Given the description of an element on the screen output the (x, y) to click on. 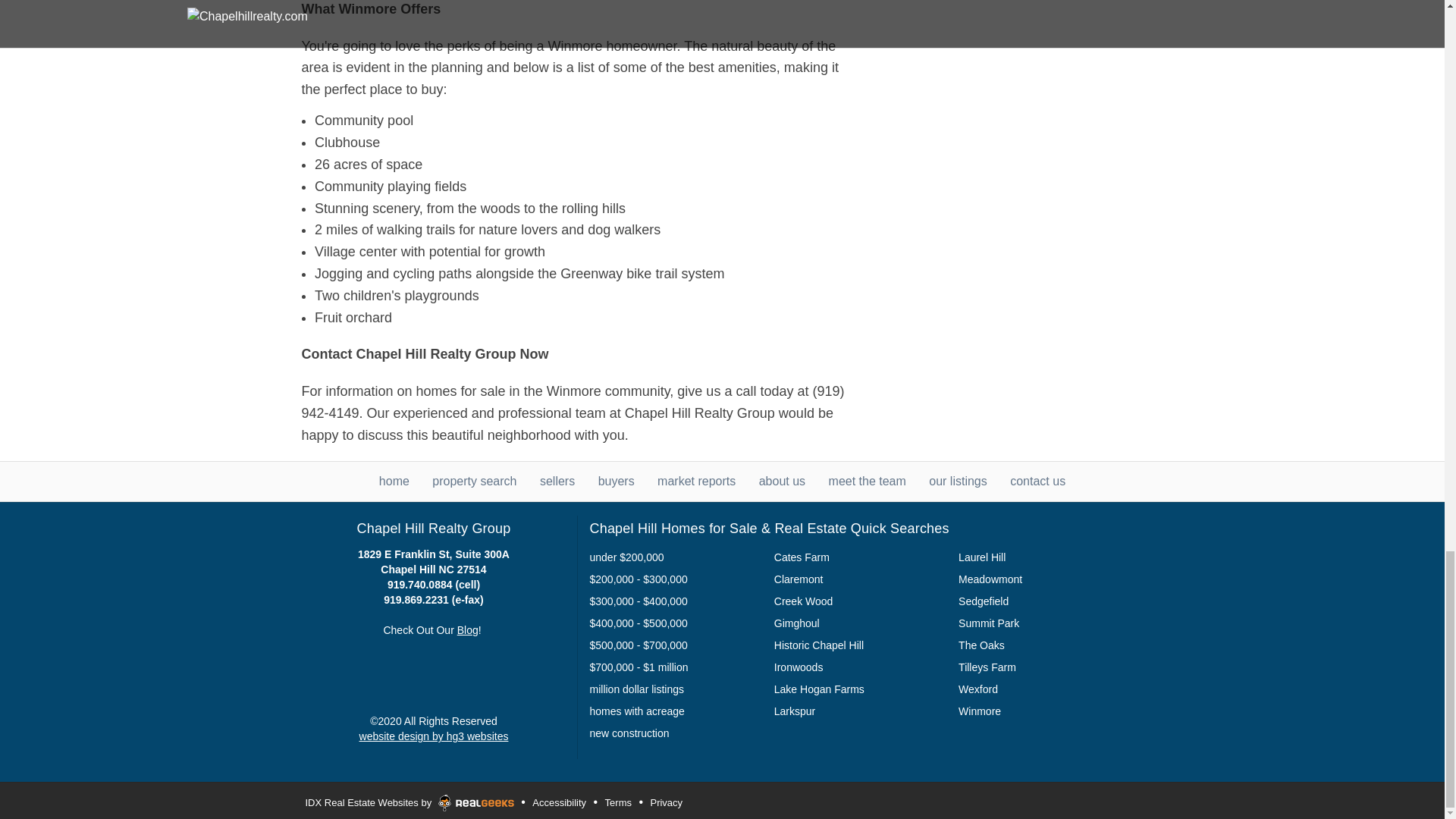
Cates Farm (801, 557)
home (393, 481)
contact us (1037, 481)
about us (781, 481)
our listings (957, 481)
Blog (468, 630)
meet the team (866, 481)
market reports (696, 481)
buyers (616, 481)
website design by hg3 websites (433, 736)
hg3 websites (433, 736)
Laurel Hill (982, 557)
sellers (557, 481)
property search (474, 481)
